Given the description of an element on the screen output the (x, y) to click on. 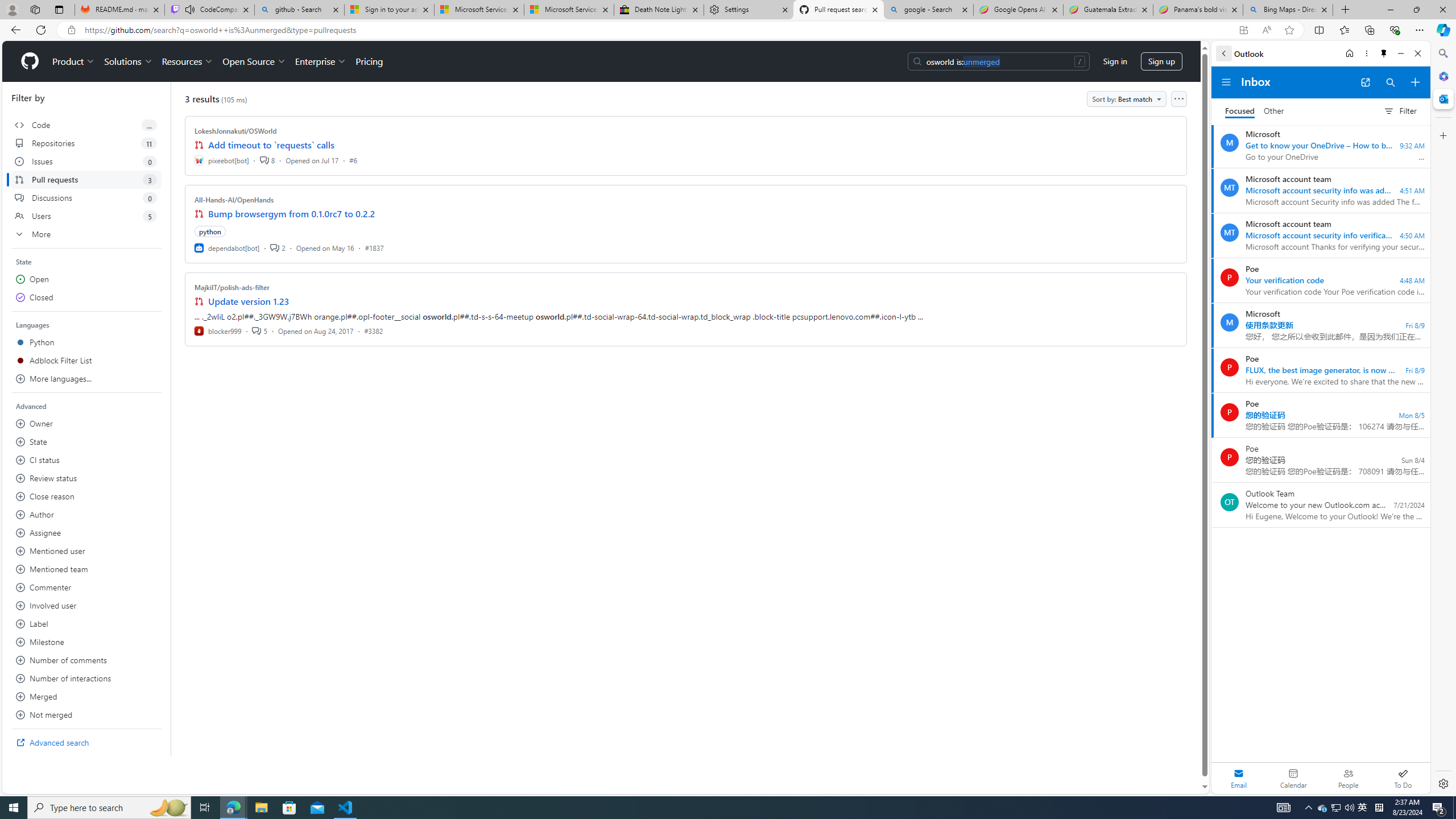
#3382 (373, 330)
Advanced search (86, 742)
Bump browsergym from 0.1.0rc7 to 0.2.2 (291, 213)
blocker999 (218, 330)
All-Hands-AI/OpenHands (234, 199)
